Given the description of an element on the screen output the (x, y) to click on. 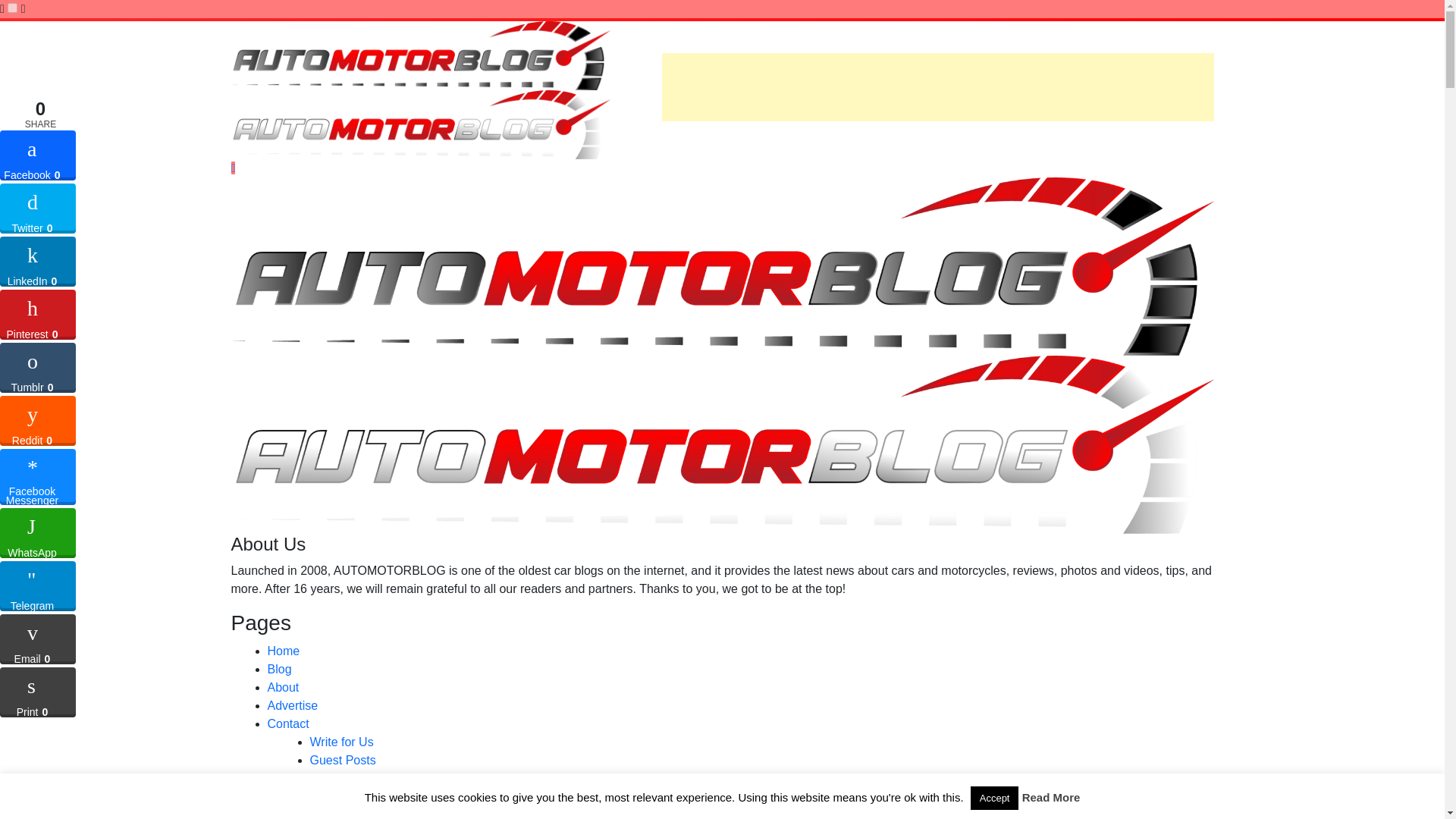
Advertise (291, 705)
Home (282, 650)
Blog (278, 668)
About (282, 686)
Advertisement (936, 87)
Guest Posts (341, 759)
Contact (287, 723)
Send us a tip! (346, 778)
Write for Us (340, 741)
on (12, 8)
